Given the description of an element on the screen output the (x, y) to click on. 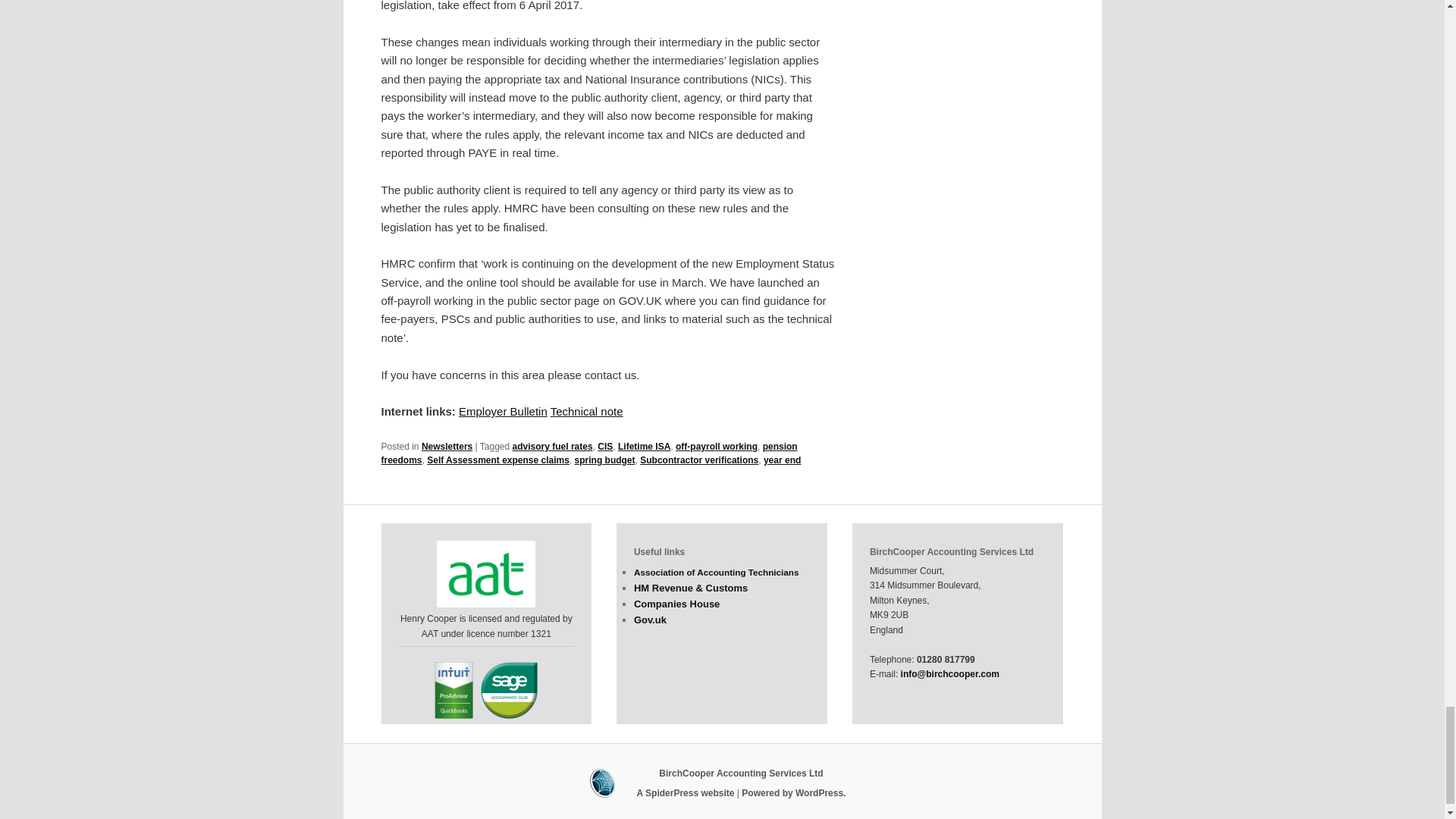
SpiderPress (722, 783)
Sage Accountants Club member (508, 690)
Technical note (586, 410)
BirchCooper (740, 773)
Newsletters (446, 446)
Employer Bulletin (502, 410)
advisory fuel rates (552, 446)
Association of Accounting Technicians - member (485, 573)
CIS (604, 446)
off-payroll working (716, 446)
